Given the description of an element on the screen output the (x, y) to click on. 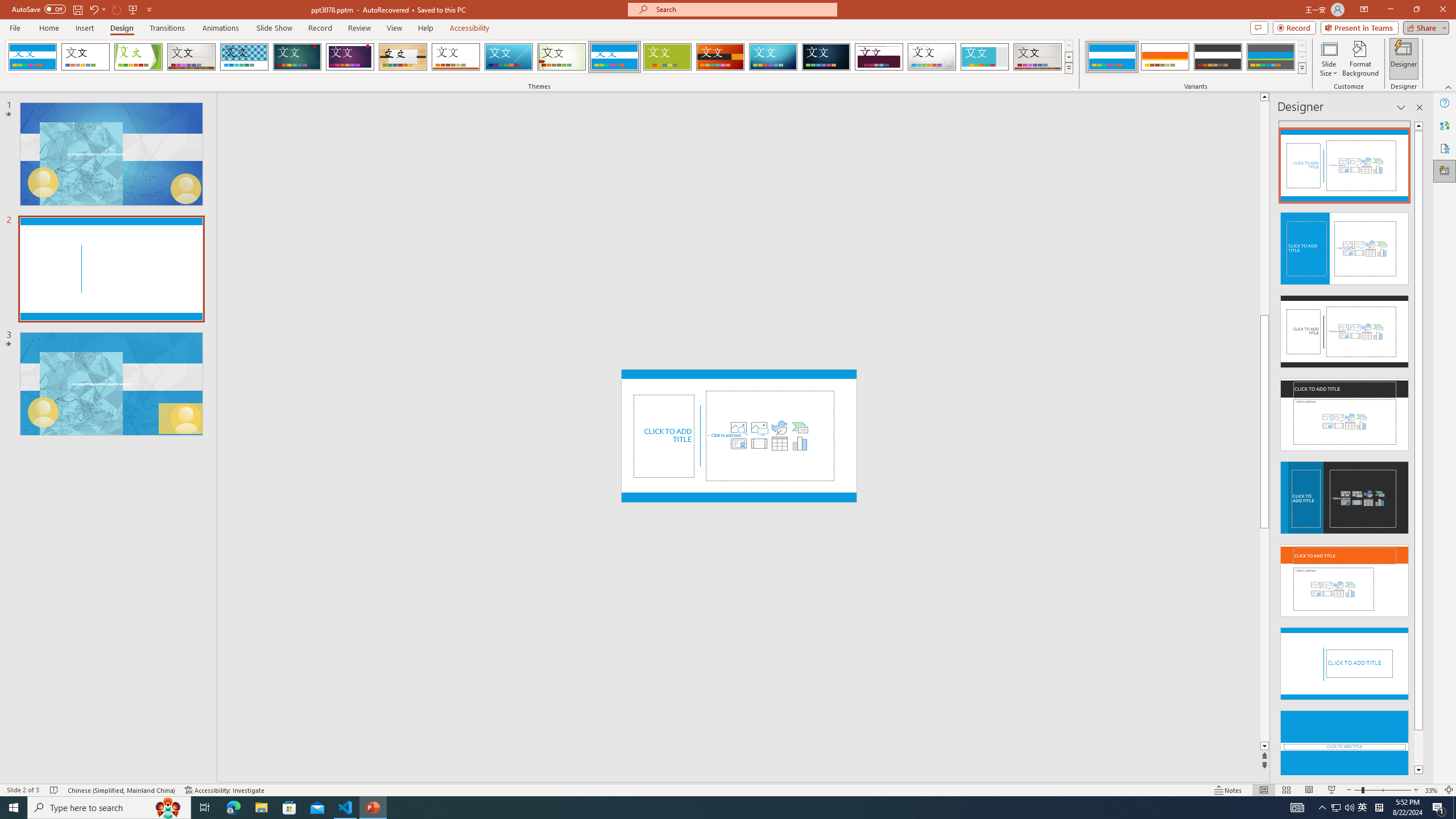
Frame (984, 56)
Circuit (772, 56)
Decorative Locked (738, 497)
Berlin (720, 56)
